Given the description of an element on the screen output the (x, y) to click on. 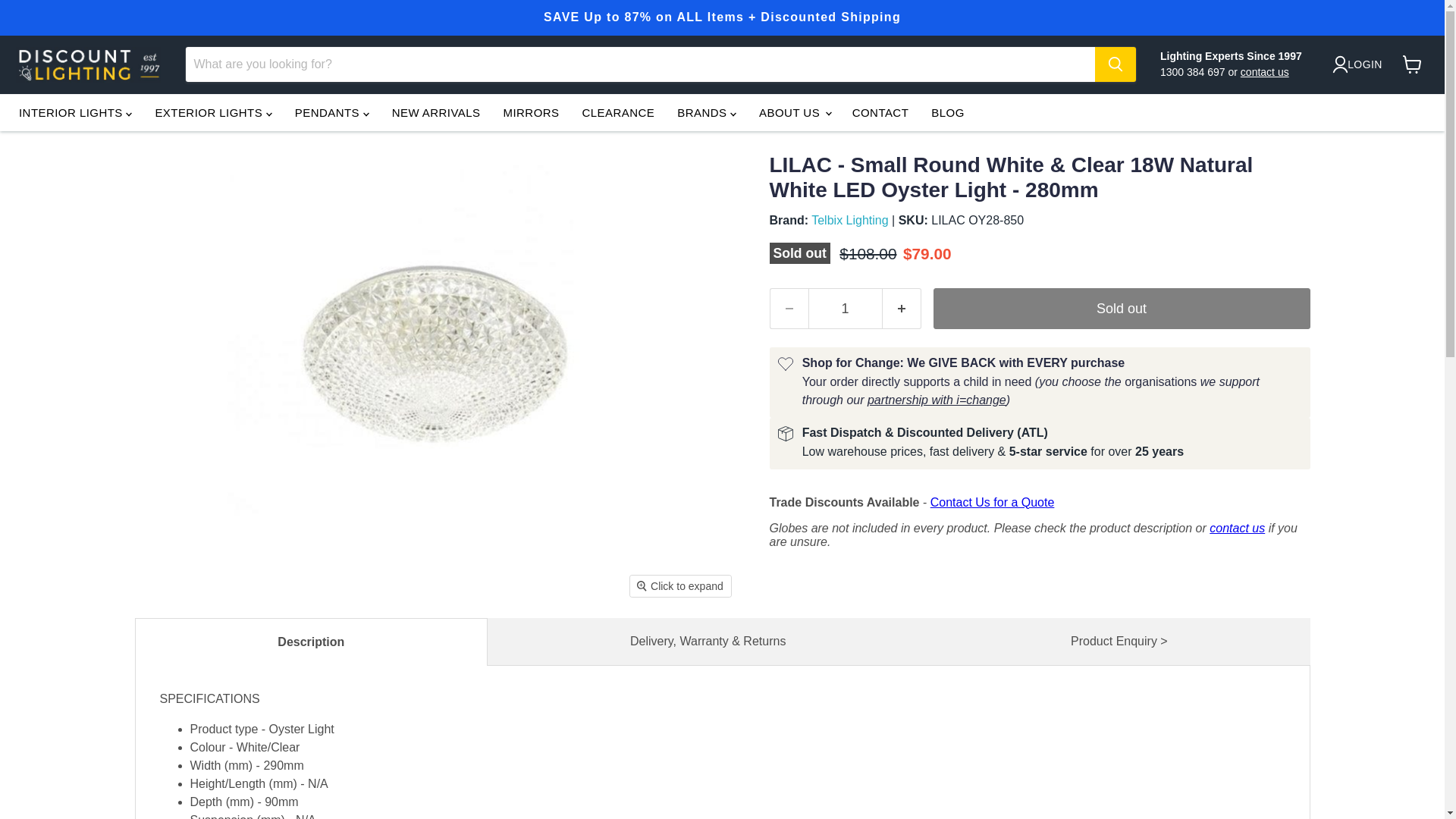
contact us (1264, 71)
LOGIN (1356, 64)
1 (845, 309)
View cart (1415, 68)
Lighting Experts Since 1997 (1230, 56)
